Given the description of an element on the screen output the (x, y) to click on. 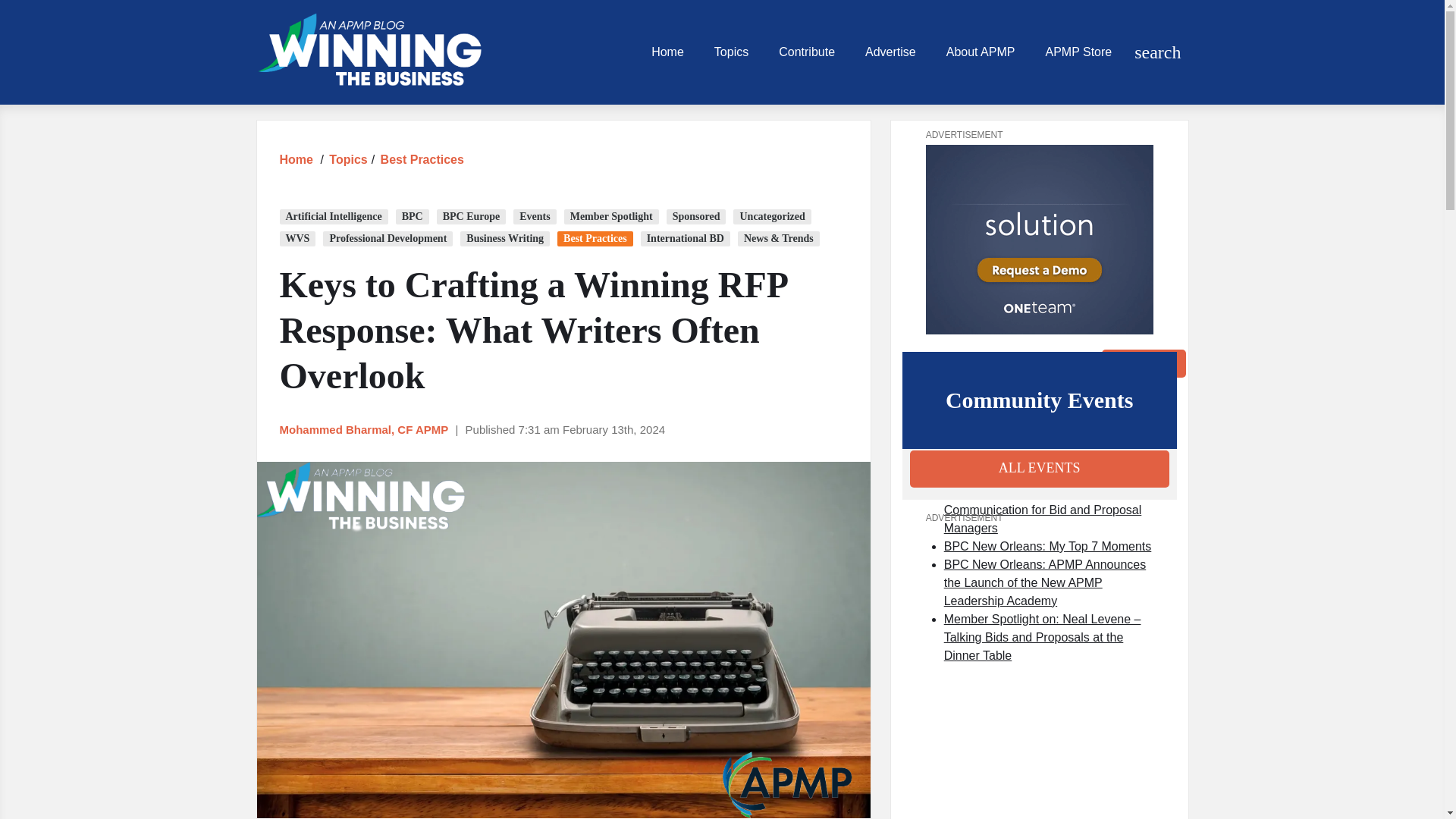
Member Spotlight (611, 216)
Winning the Business (369, 52)
Search (1144, 362)
BPC (412, 216)
Topics (347, 159)
Events (534, 216)
Artificial Intelligence (333, 216)
APMP Store (1077, 52)
Best Practices (422, 159)
About APMP (981, 52)
Home (296, 159)
Topics (347, 159)
BPC Europe (471, 216)
Best Practices (422, 159)
Search (1144, 362)
